Given the description of an element on the screen output the (x, y) to click on. 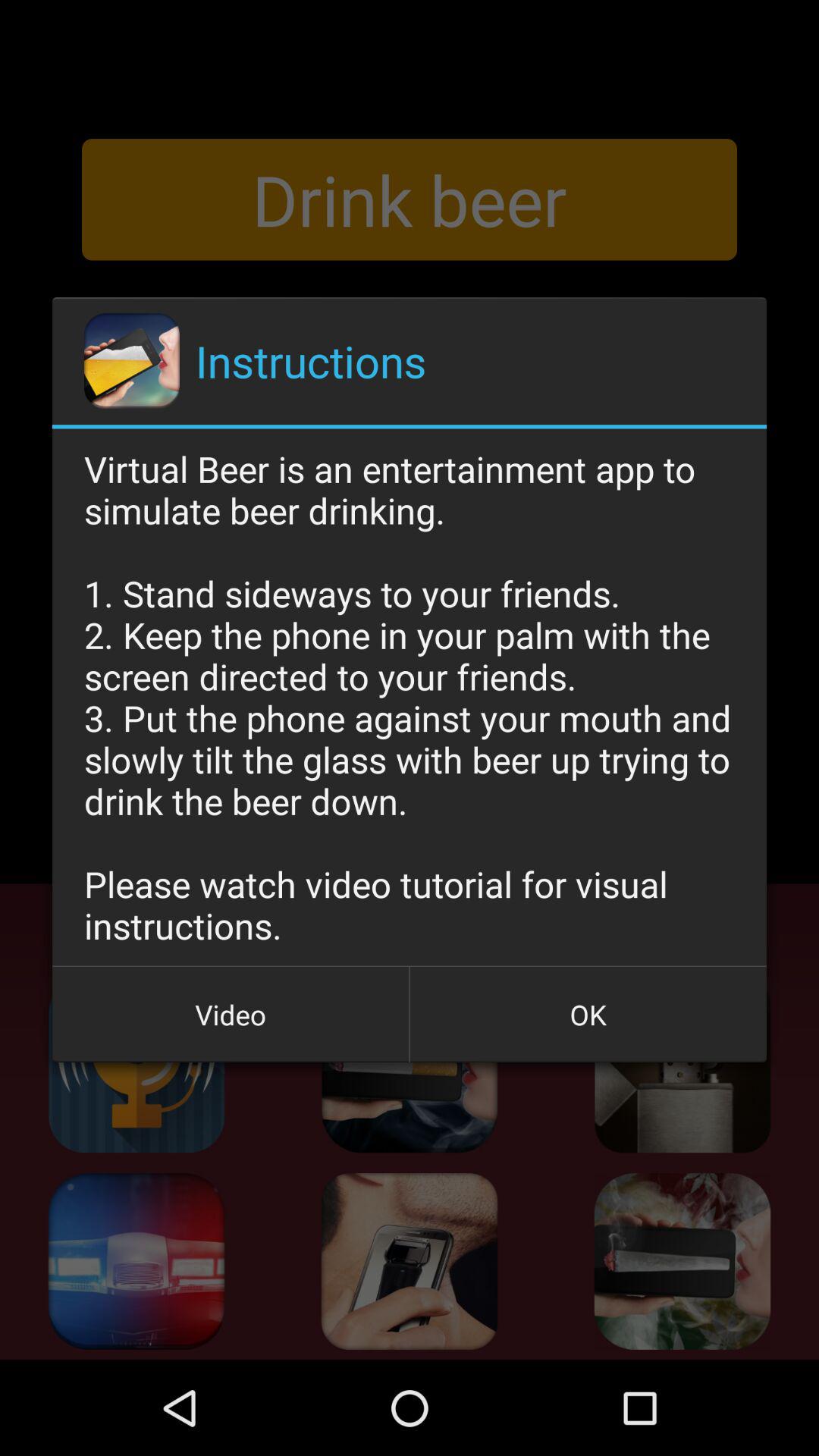
select button next to the ok (230, 1014)
